Given the description of an element on the screen output the (x, y) to click on. 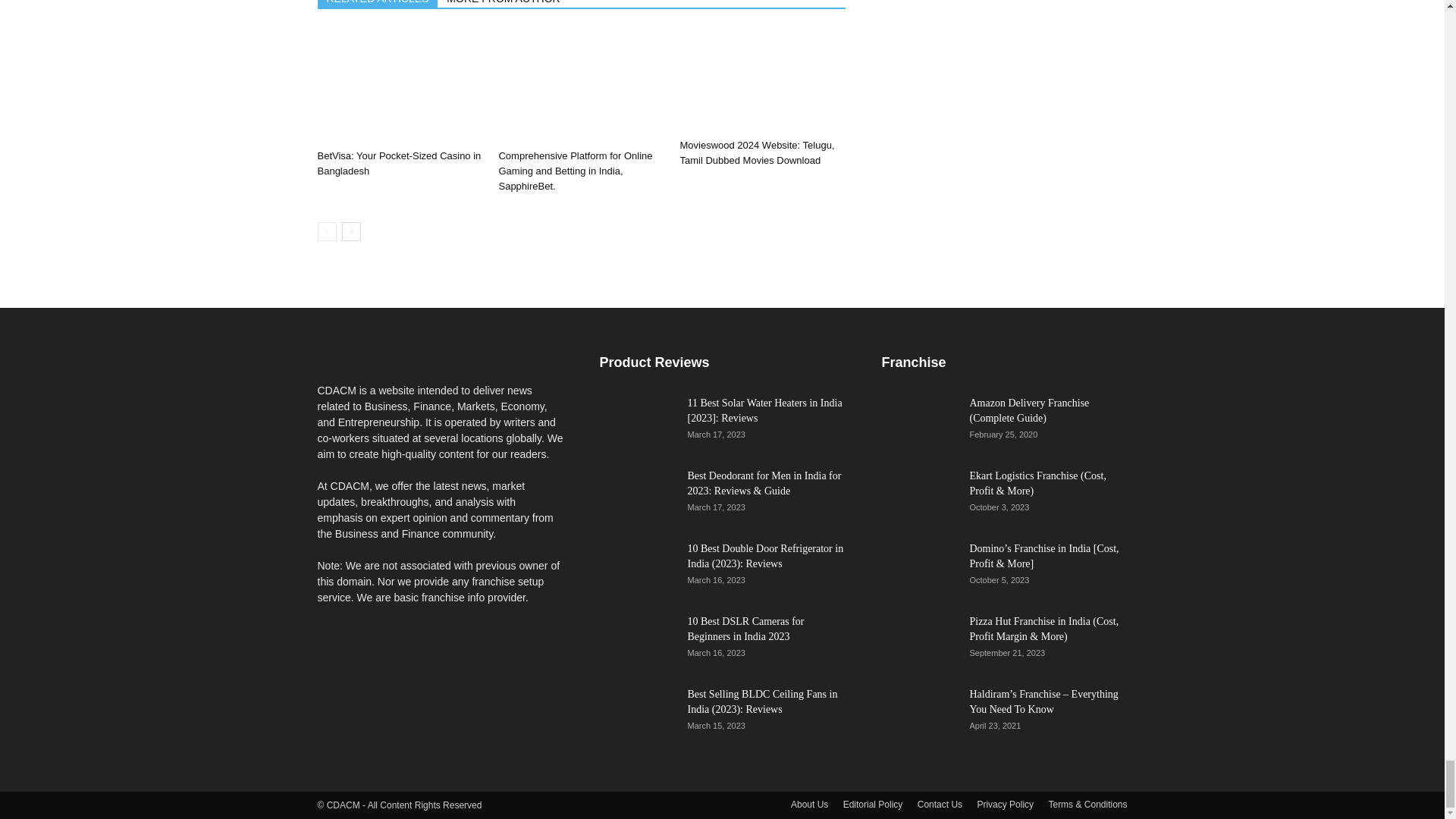
BetVisa: Your Pocket-Sized Casino in Bangladesh (399, 86)
BetVisa: Your Pocket-Sized Casino in Bangladesh (398, 162)
